Given the description of an element on the screen output the (x, y) to click on. 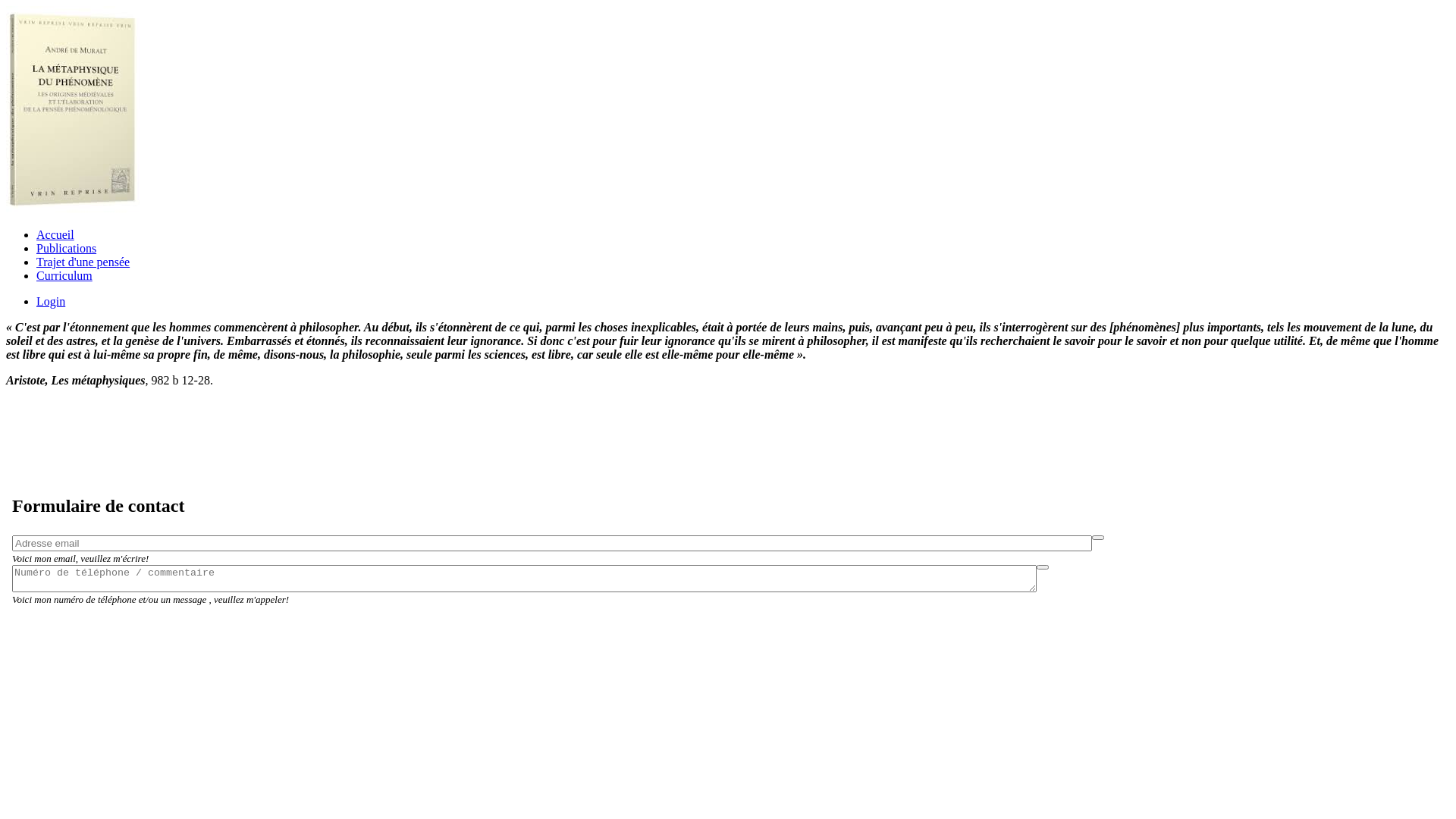
Curriculum Element type: text (64, 275)
Login Element type: text (50, 300)
Accueil Element type: text (55, 234)
Publications Element type: text (66, 247)
